Given the description of an element on the screen output the (x, y) to click on. 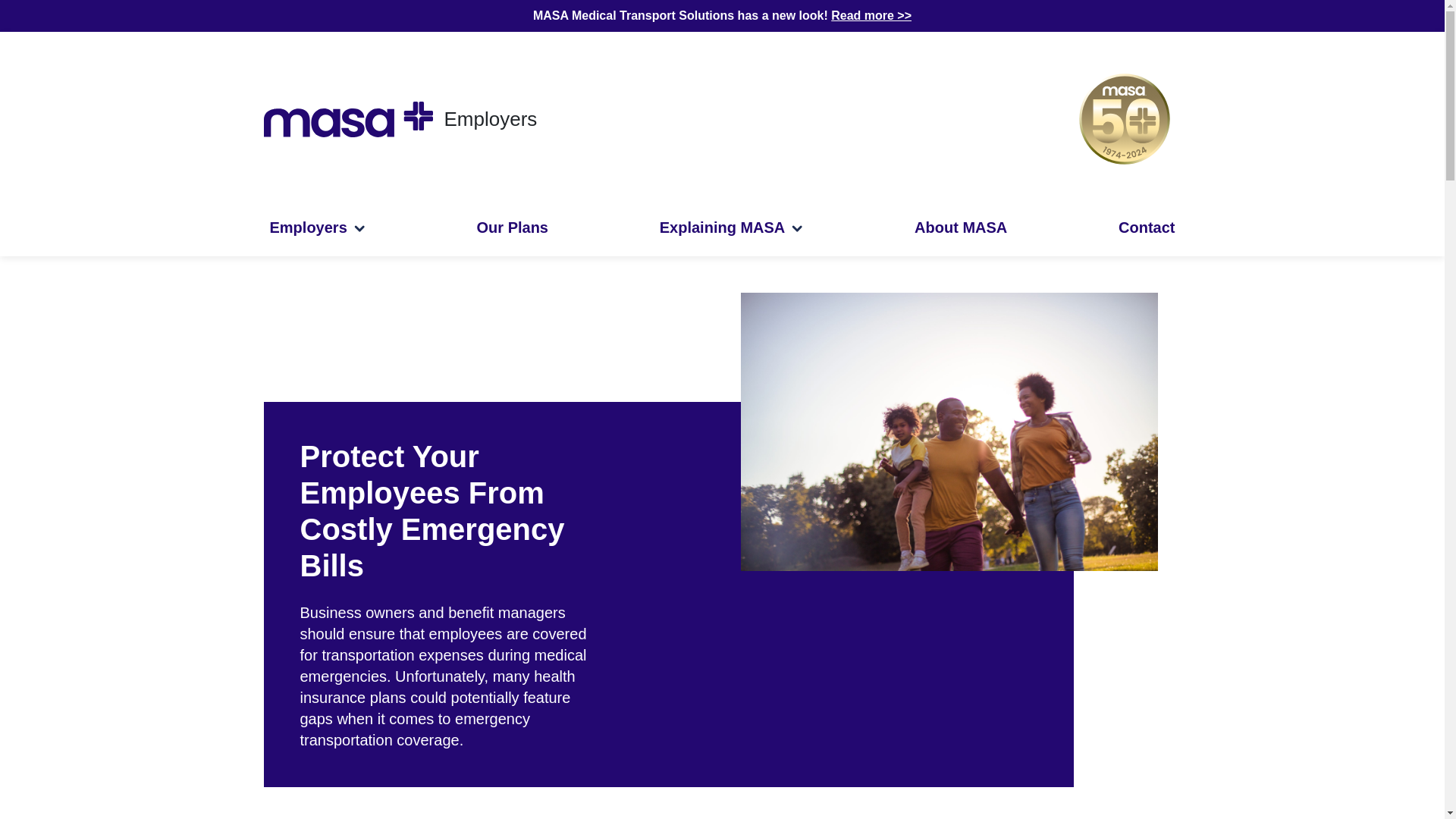
About MASA (960, 227)
Contact (1146, 227)
Explaining MASA (731, 227)
Contact (1146, 227)
About MASA (960, 227)
Our Plans (512, 227)
Explaining MASA (731, 227)
Our Plans (512, 227)
Employers (317, 227)
Employers (317, 227)
